Given the description of an element on the screen output the (x, y) to click on. 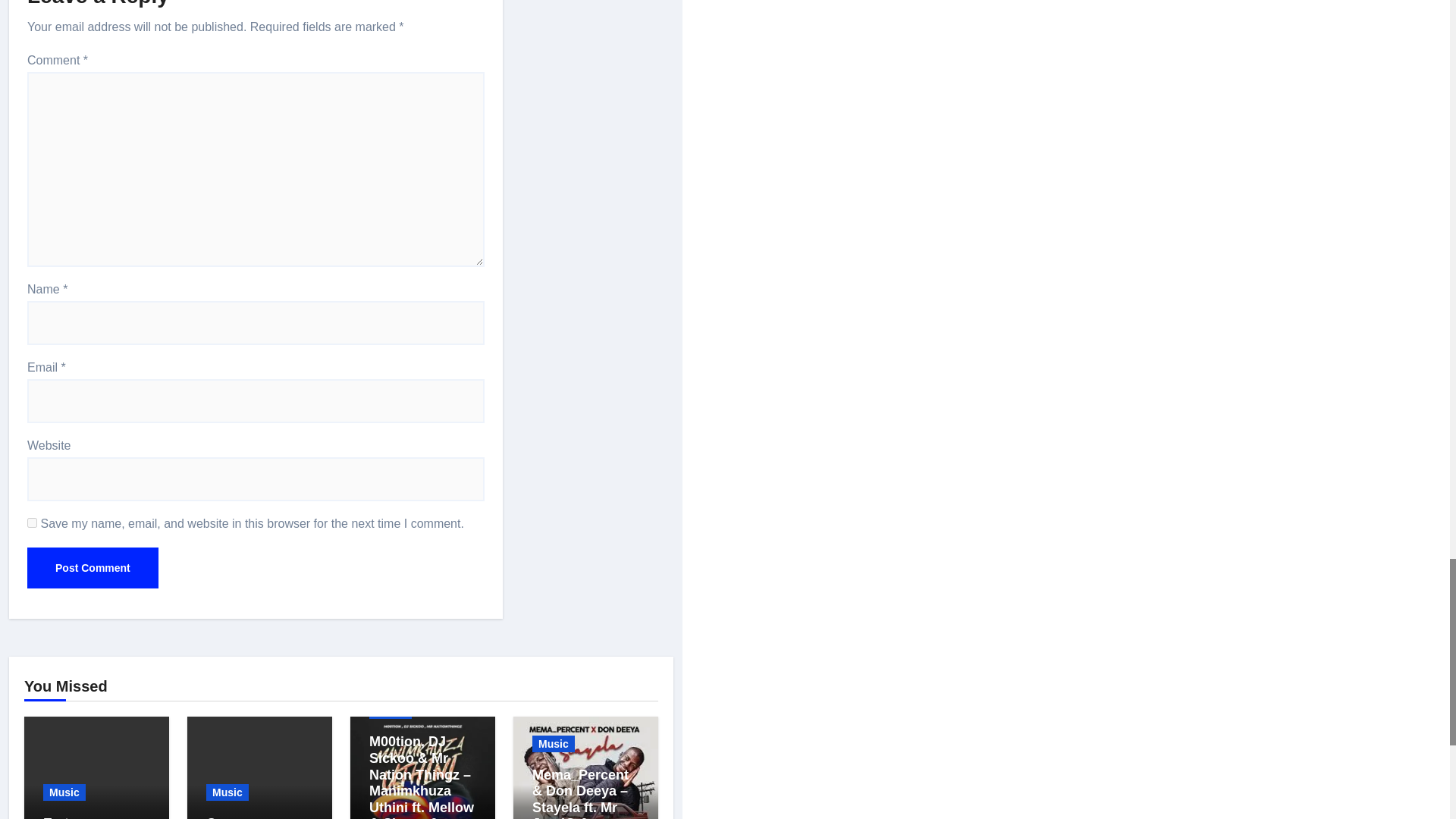
yes (32, 522)
Post Comment (92, 567)
